Given the description of an element on the screen output the (x, y) to click on. 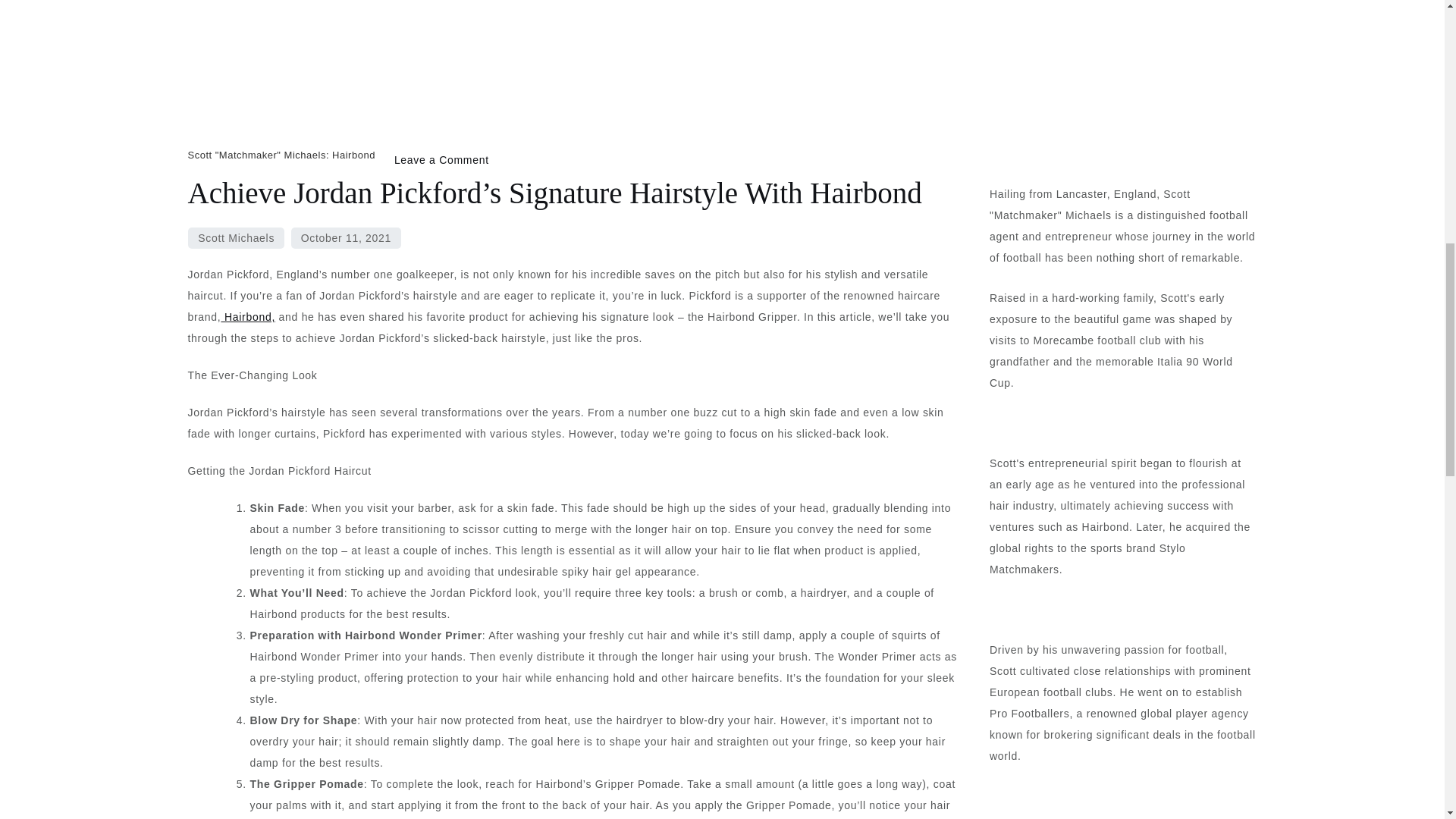
October 11, 2021 (346, 237)
Scott Michaels (235, 237)
Hairbond, (248, 316)
Scott "Matchmaker" Michaels: Hairbond (281, 154)
